Given the description of an element on the screen output the (x, y) to click on. 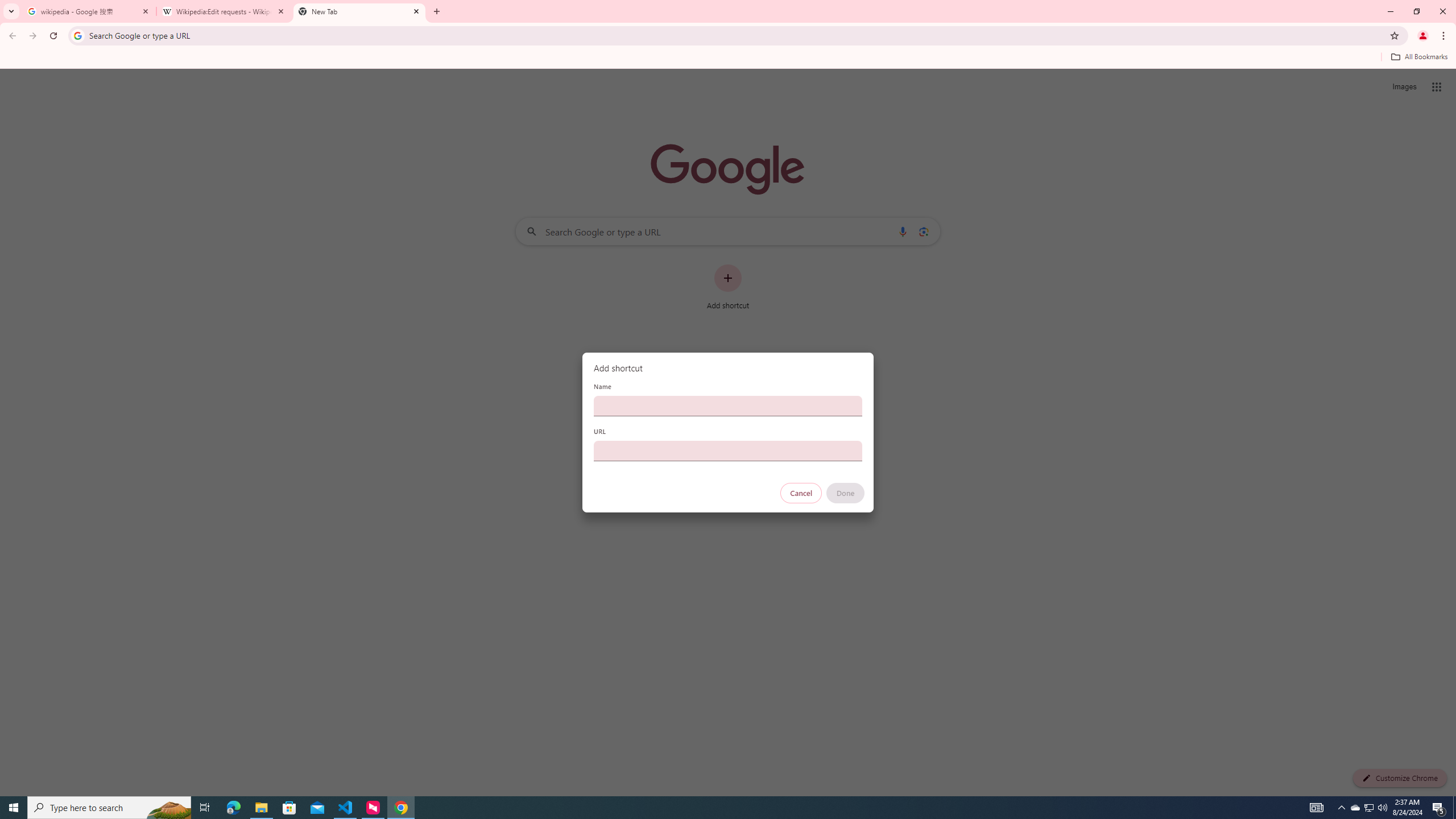
Name (727, 405)
Cancel (801, 493)
Wikipedia:Edit requests - Wikipedia (224, 11)
